Given the description of an element on the screen output the (x, y) to click on. 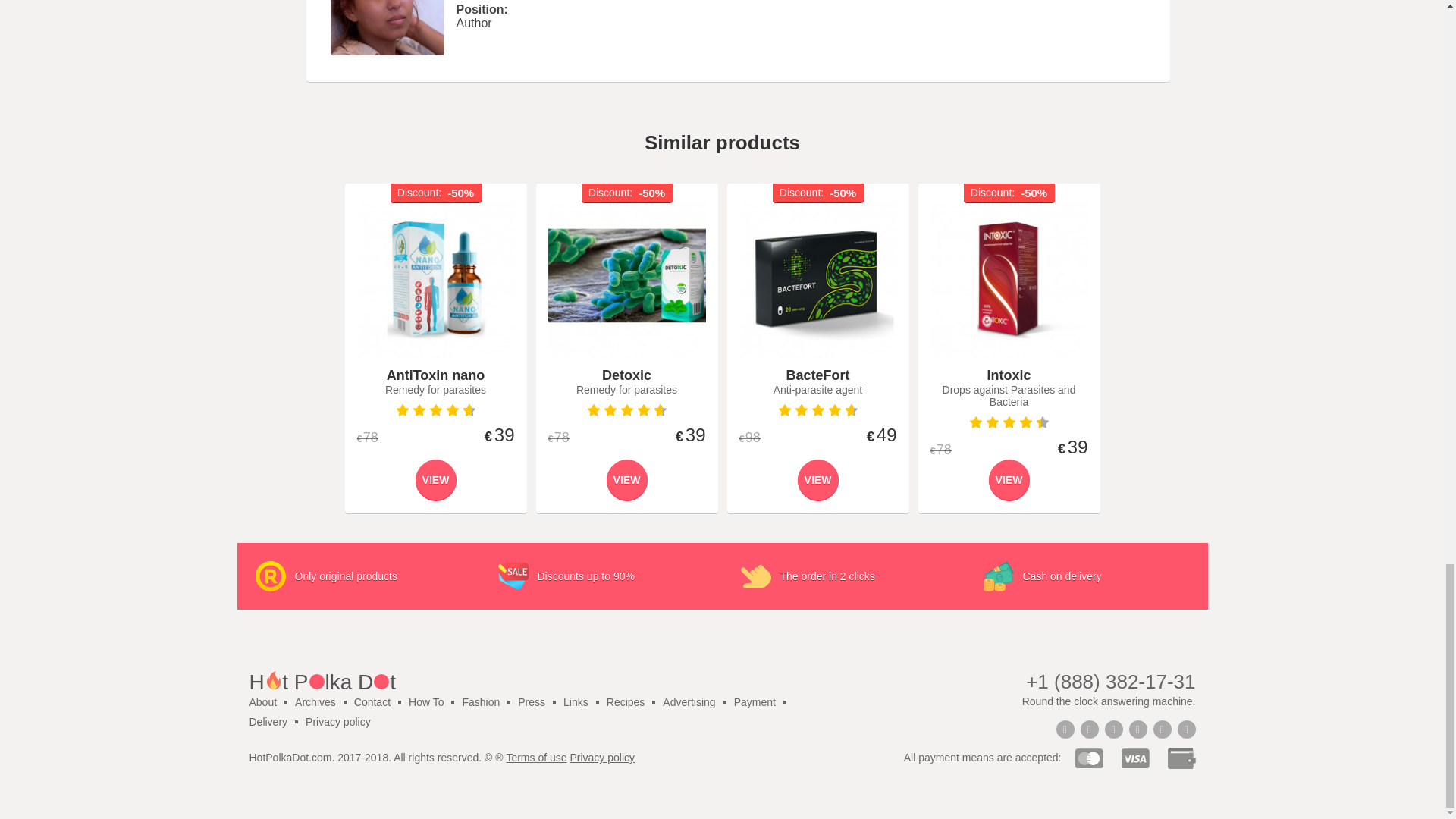
BacteFort (817, 280)
AntiToxin nano (434, 280)
Intoxic (1008, 280)
Detoxic (625, 280)
